Given the description of an element on the screen output the (x, y) to click on. 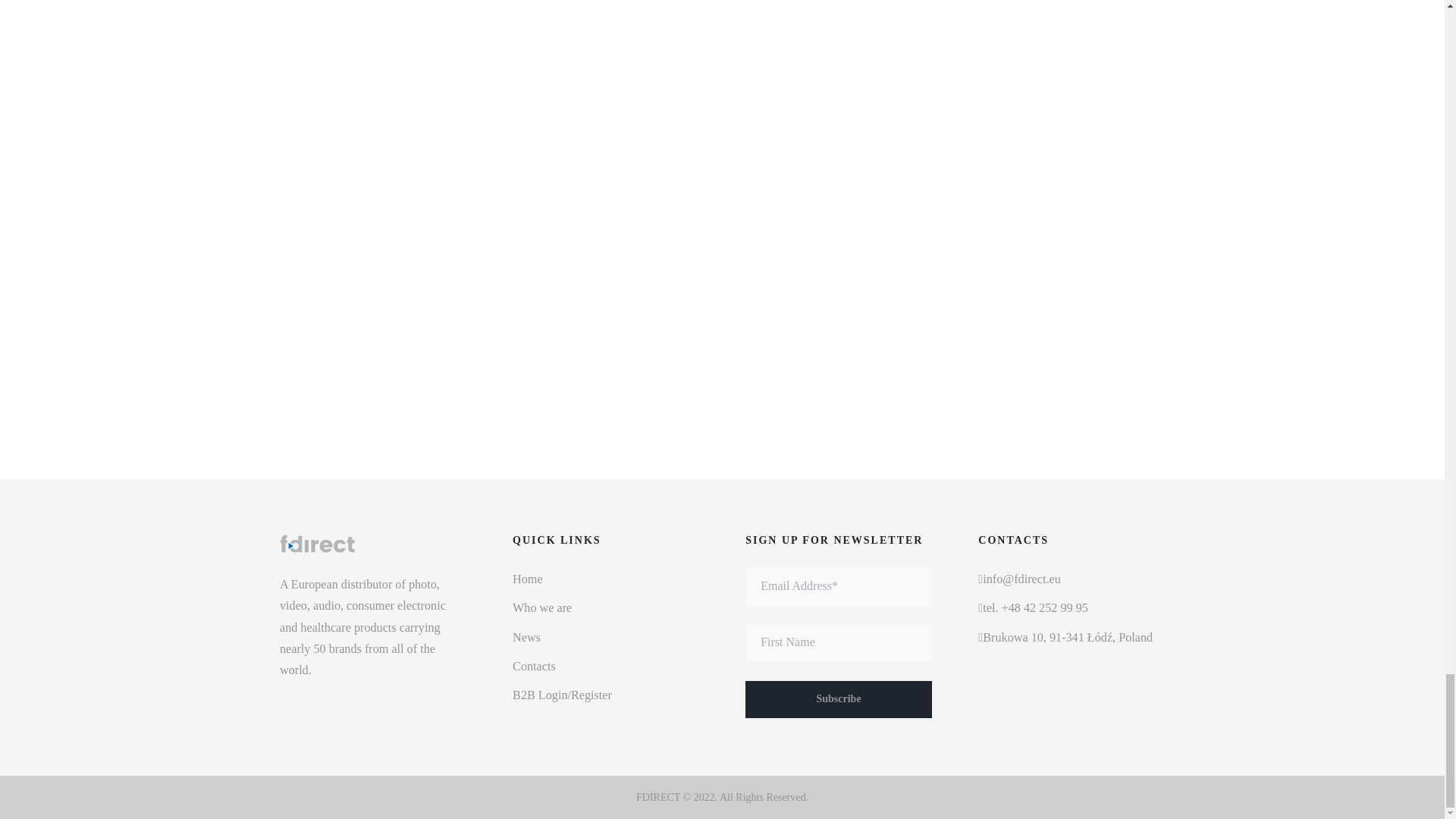
Subscribe (838, 699)
